Given the description of an element on the screen output the (x, y) to click on. 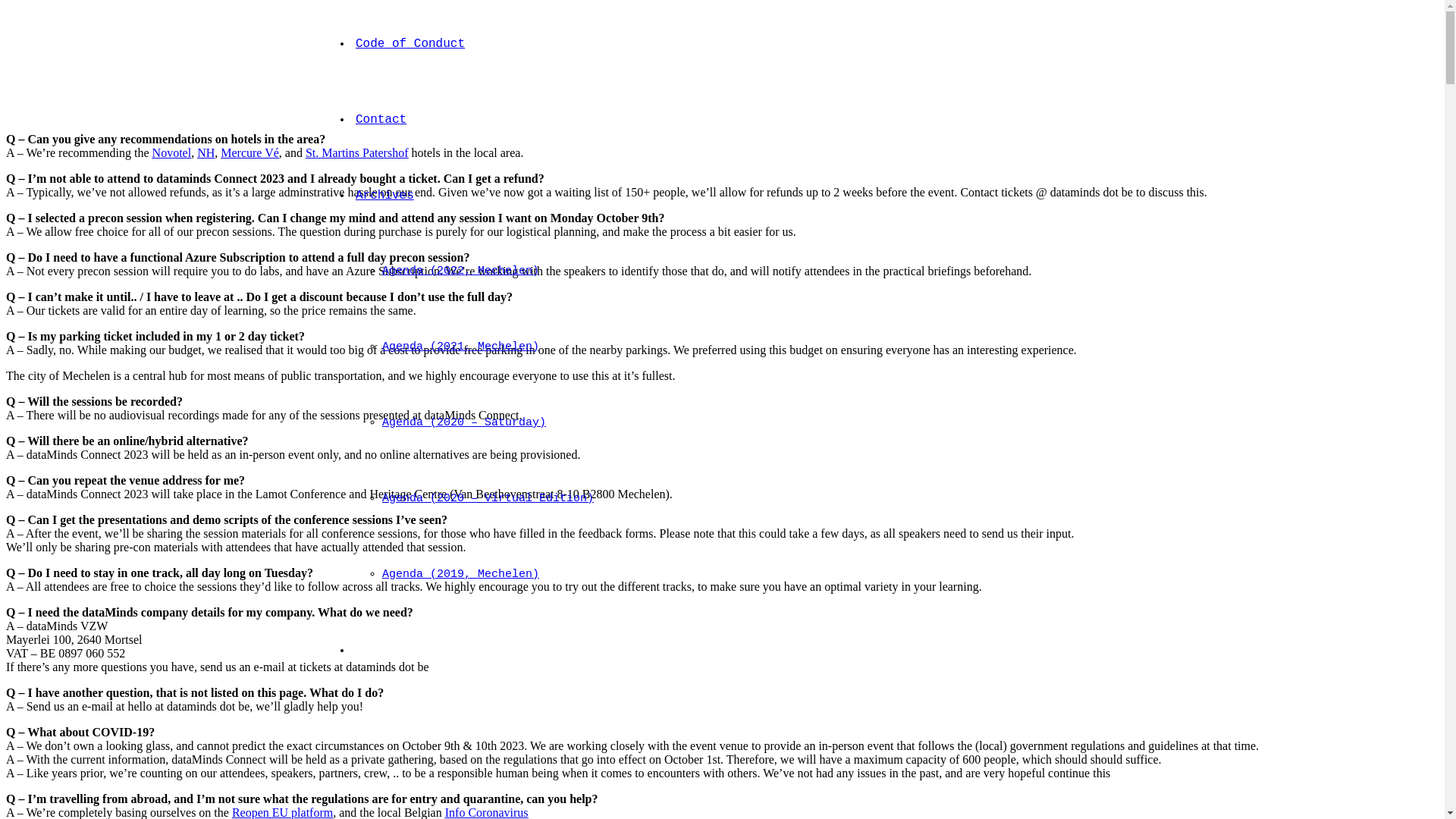
NH Element type: text (205, 152)
Agenda (2019, Mechelen) Element type: text (460, 573)
Agenda (2021, Mechelen) Element type: text (460, 346)
Contact Element type: text (380, 119)
Archives Element type: text (384, 195)
Agenda (2022, Mechelen) Element type: text (460, 270)
Novotel Element type: text (171, 152)
Code of Conduct Element type: text (409, 43)
St. Martins Patershof Element type: text (356, 152)
